Given the description of an element on the screen output the (x, y) to click on. 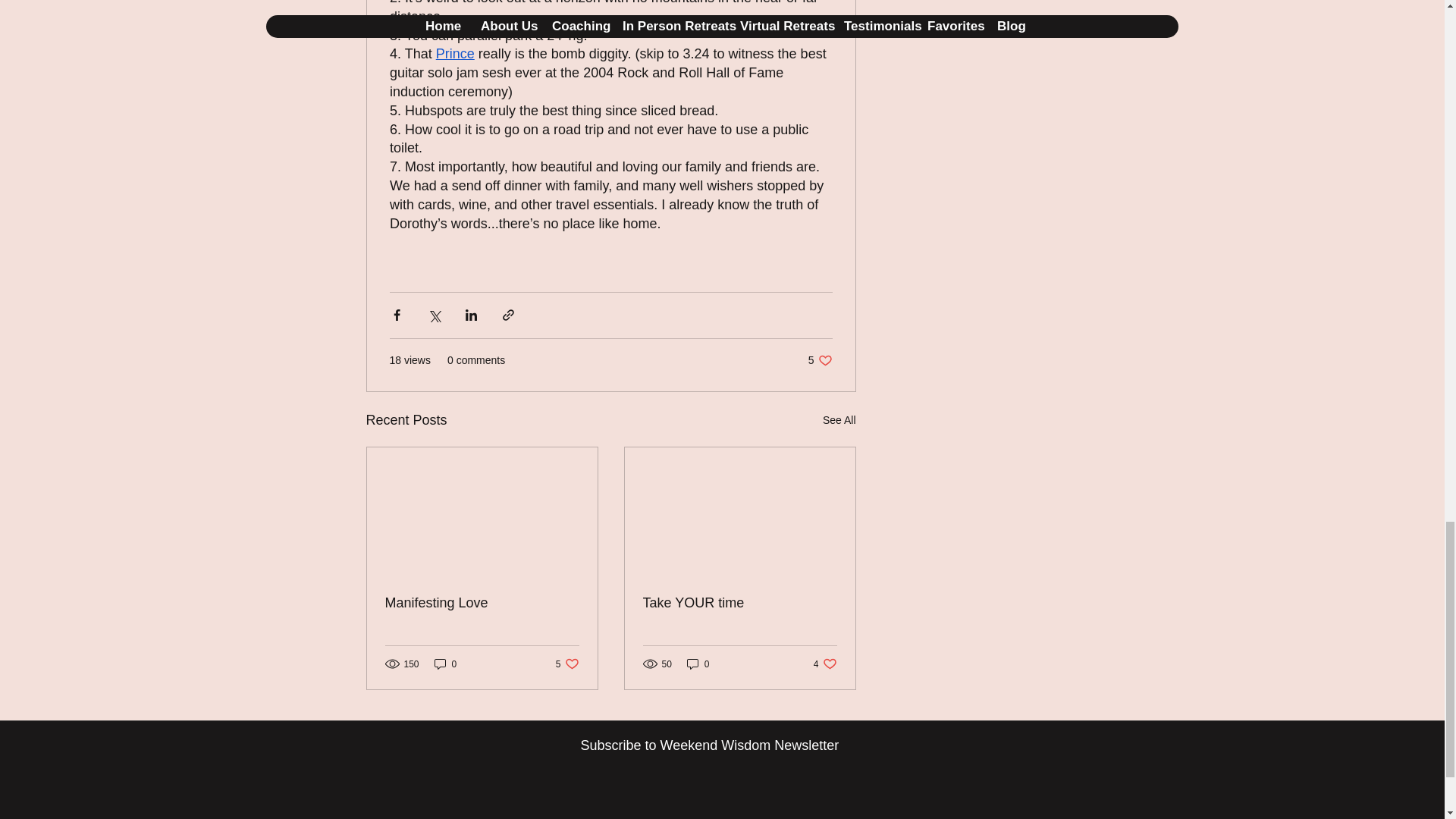
0 (567, 663)
Manifesting Love (445, 663)
0 (482, 602)
Prince (698, 663)
Take YOUR time (454, 54)
See All (820, 359)
